Given the description of an element on the screen output the (x, y) to click on. 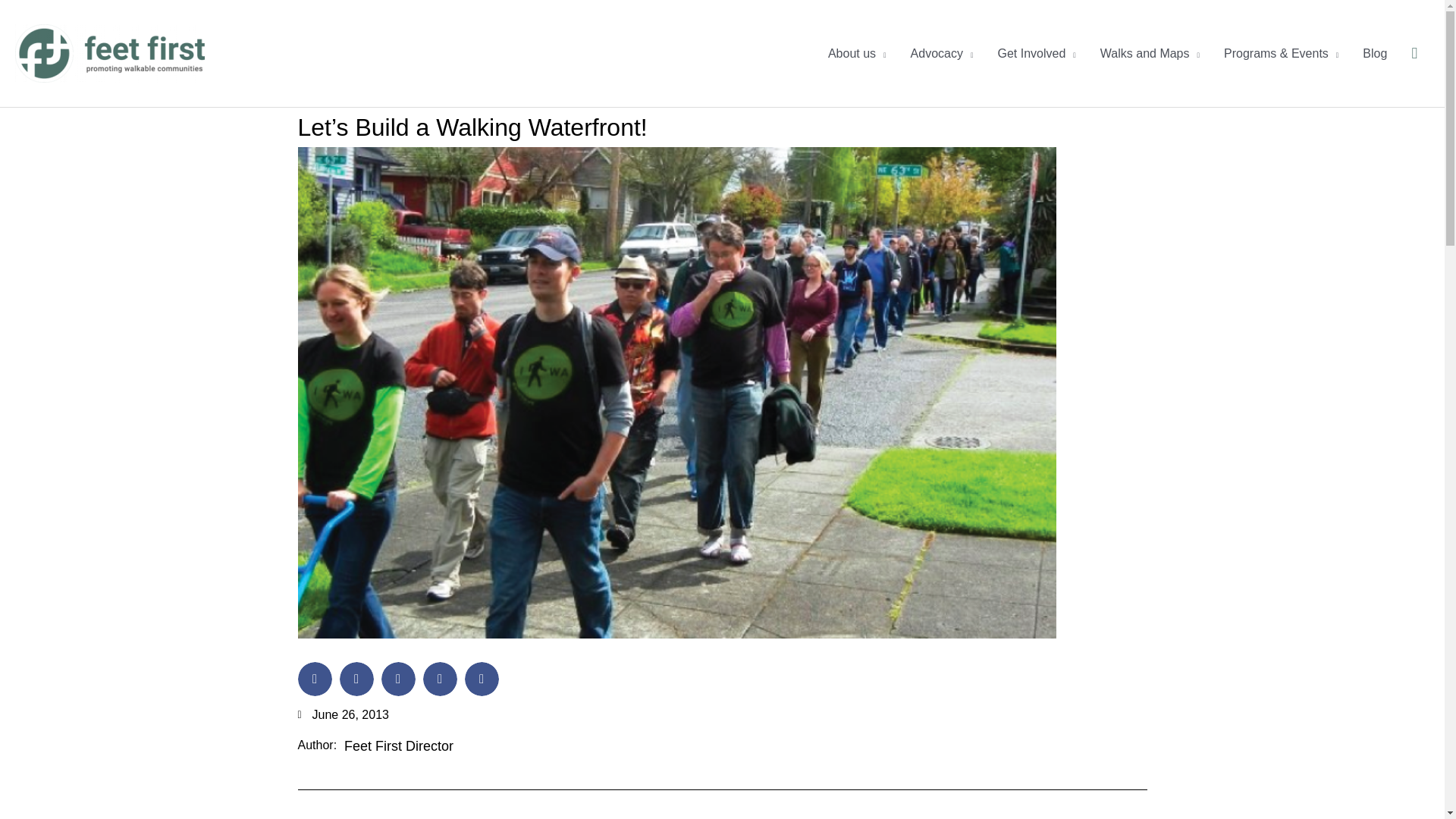
Get Involved (1036, 52)
Blog (1375, 52)
Advocacy (941, 52)
About us (856, 52)
Walks and Maps (1149, 52)
